Given the description of an element on the screen output the (x, y) to click on. 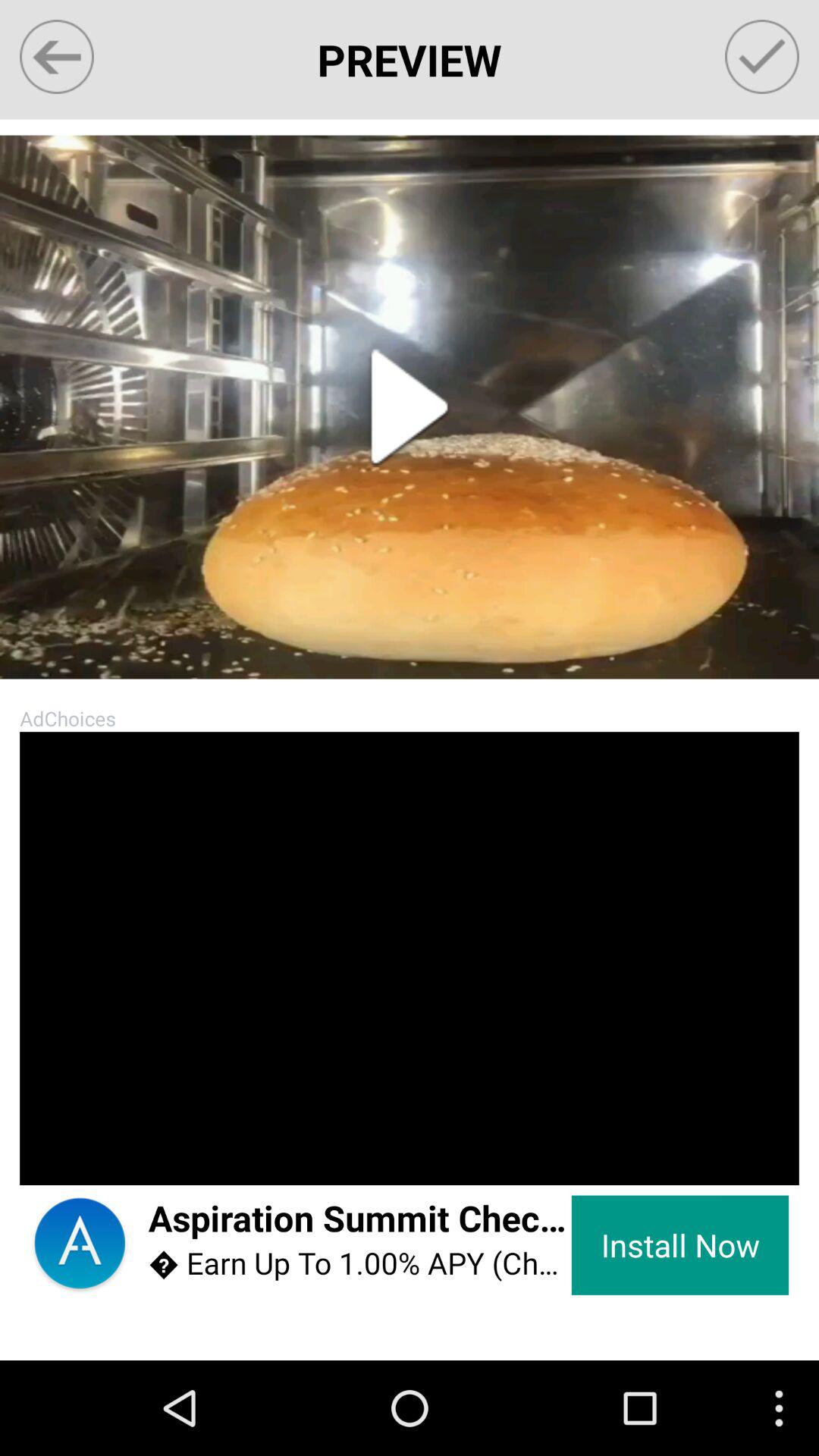
open the icon at the bottom right corner (679, 1245)
